Given the description of an element on the screen output the (x, y) to click on. 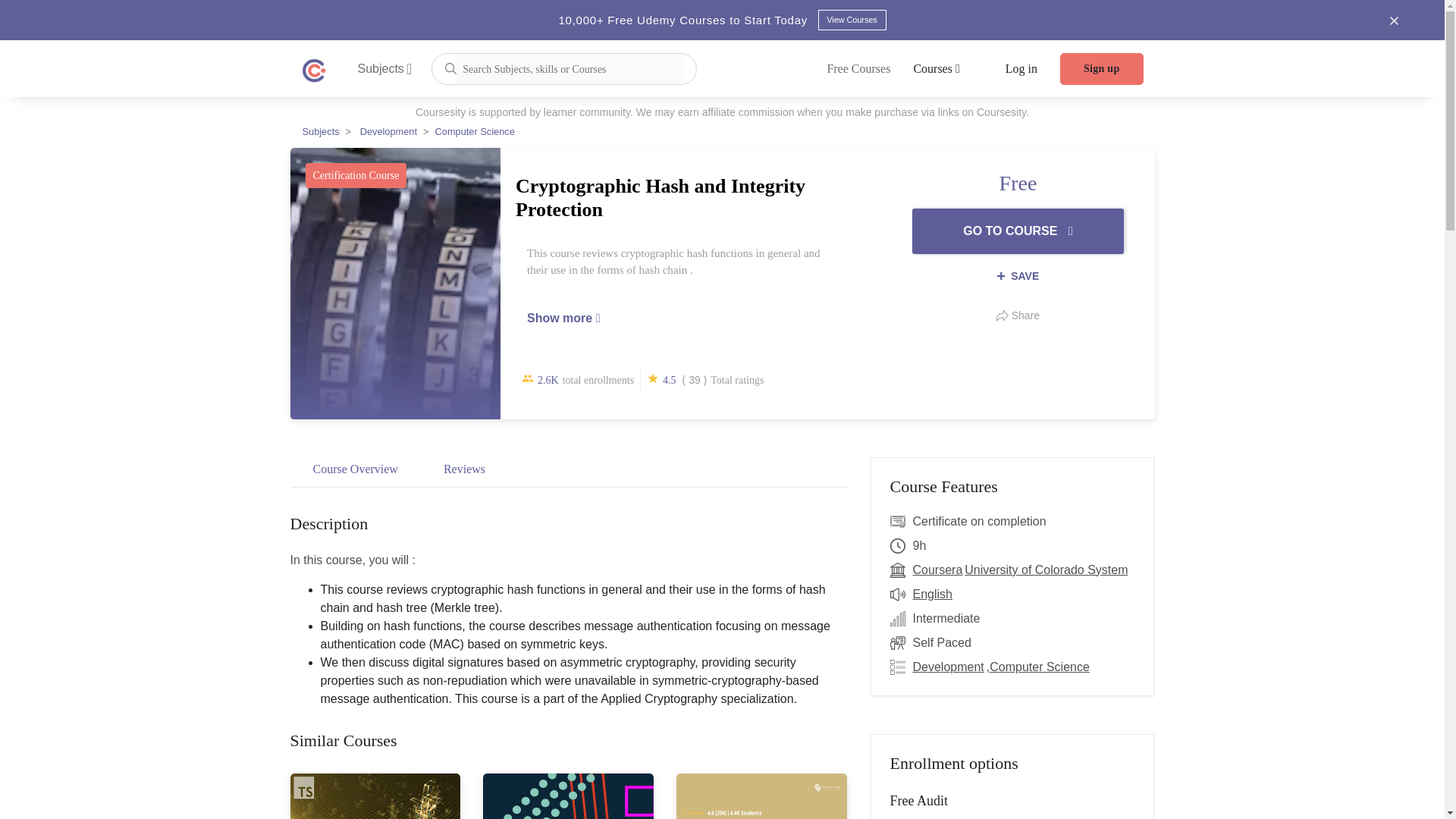
Submit the search query. (450, 67)
Topics (900, 667)
Type (900, 642)
View Courses (850, 19)
Level (900, 618)
Subjects (384, 68)
Duration (900, 546)
Audio (900, 594)
Offered by (900, 570)
Certification (900, 521)
